Given the description of an element on the screen output the (x, y) to click on. 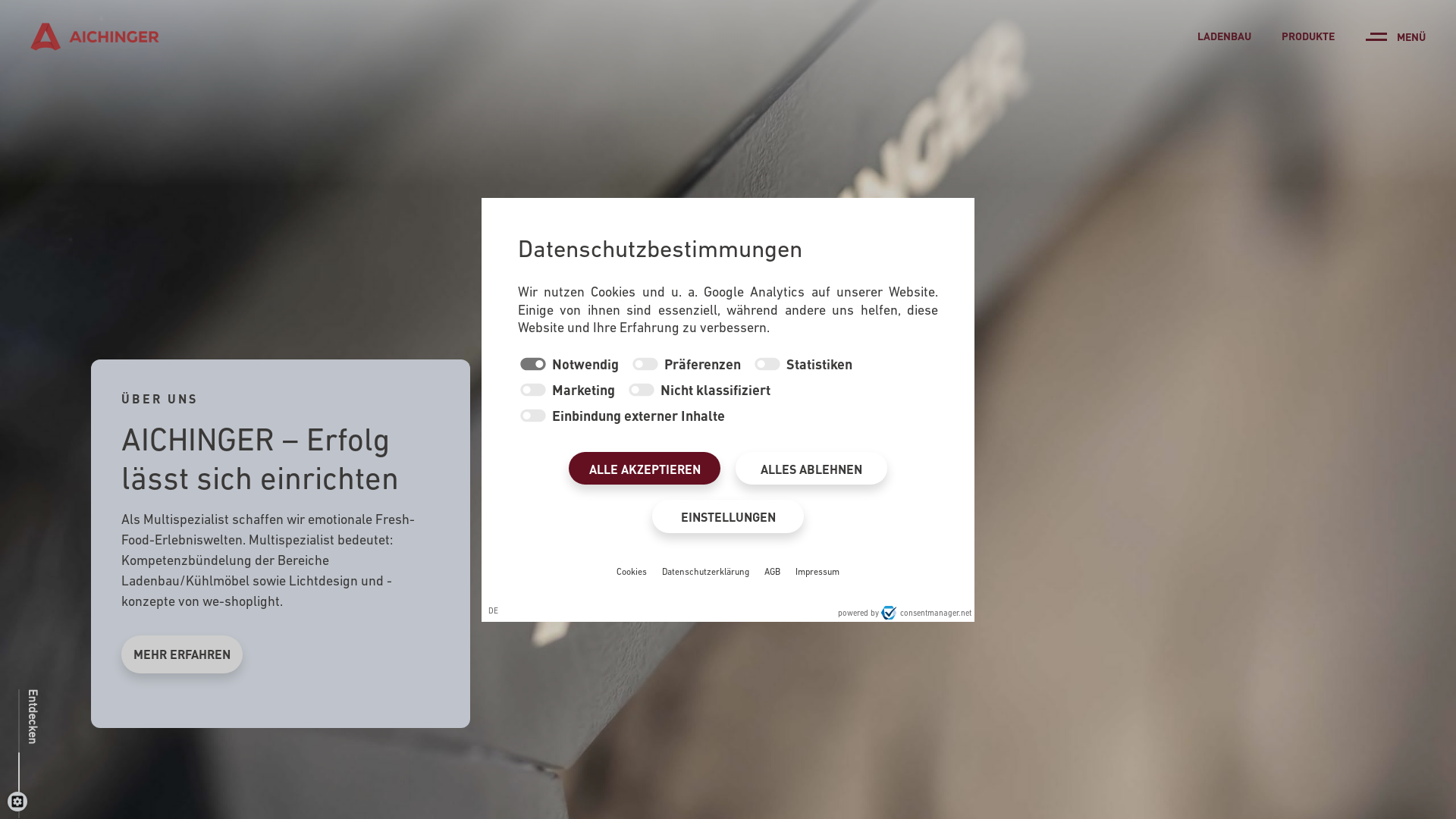
MEHR ERFAHREN Element type: text (181, 654)
LADENBAU Element type: text (1224, 35)
PRODUKTE Element type: text (1307, 35)
